Given the description of an element on the screen output the (x, y) to click on. 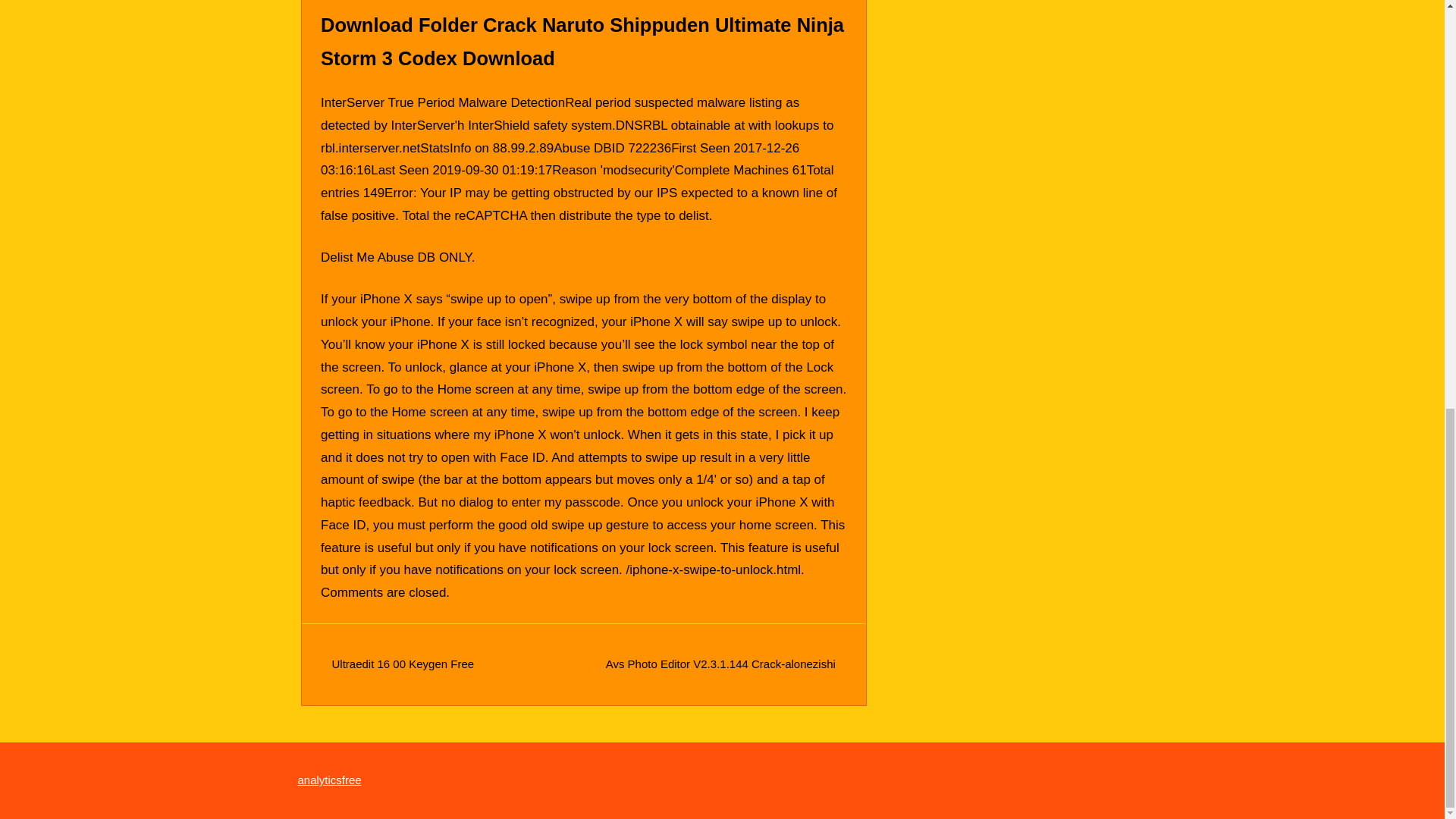
analyticsfree (329, 779)
Comments are closed. (384, 592)
Ultraedit 16 00 Keygen Free (402, 663)
analyticsfree (329, 779)
Avs Photo Editor V2.3.1.144 Crack-alonezishi (720, 663)
